Given the description of an element on the screen output the (x, y) to click on. 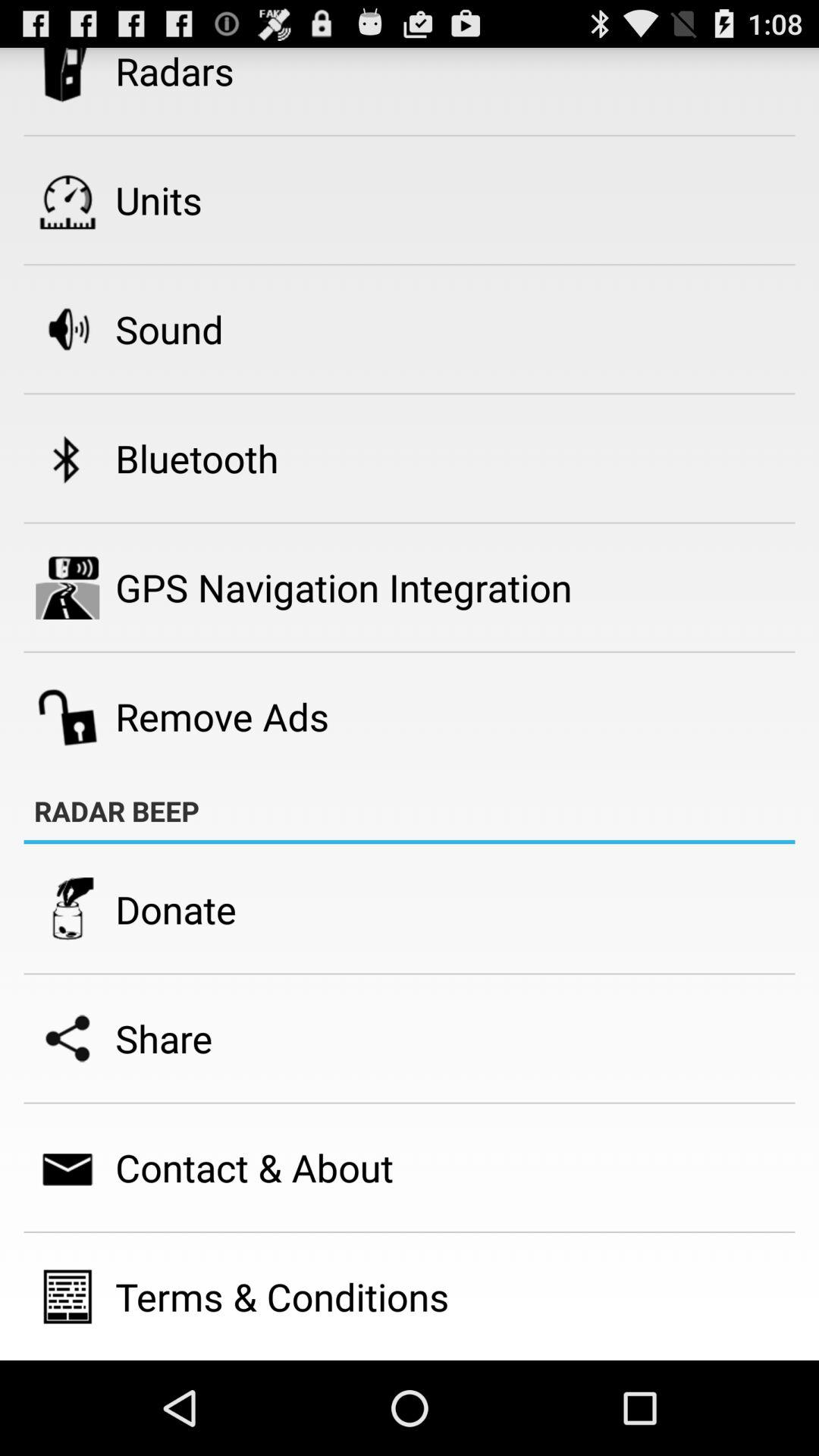
launch the donate item (175, 909)
